Given the description of an element on the screen output the (x, y) to click on. 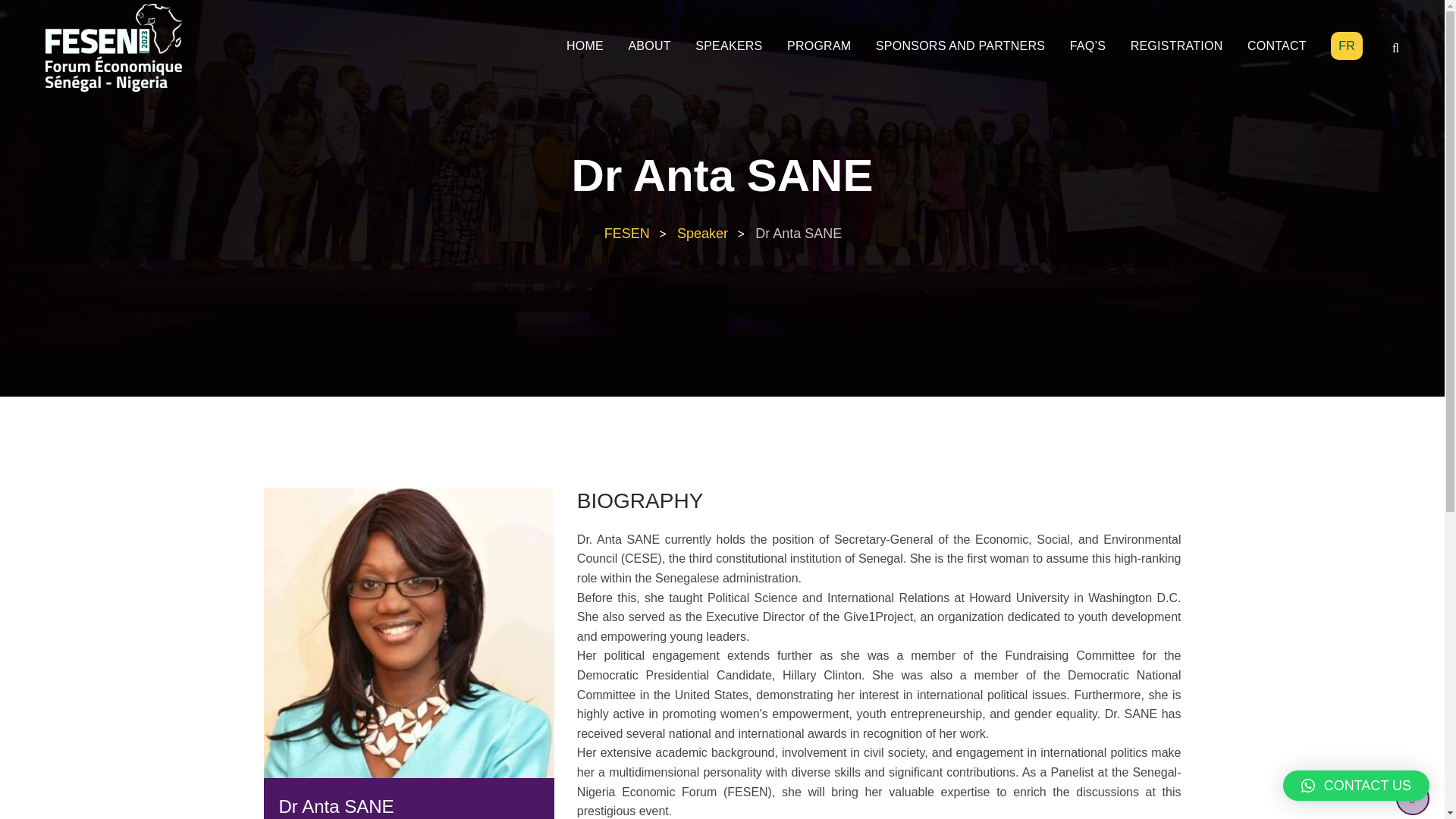
SPONSORS AND PARTNERS (959, 46)
intervenant (701, 233)
FESEN (625, 233)
ABOUT (649, 46)
CONTACT (1276, 46)
Speaker (701, 233)
SPEAKERS (728, 46)
PROGRAM (818, 46)
CONTACT US (1355, 785)
REGISTRATION (1176, 46)
FESEN (625, 233)
